Given the description of an element on the screen output the (x, y) to click on. 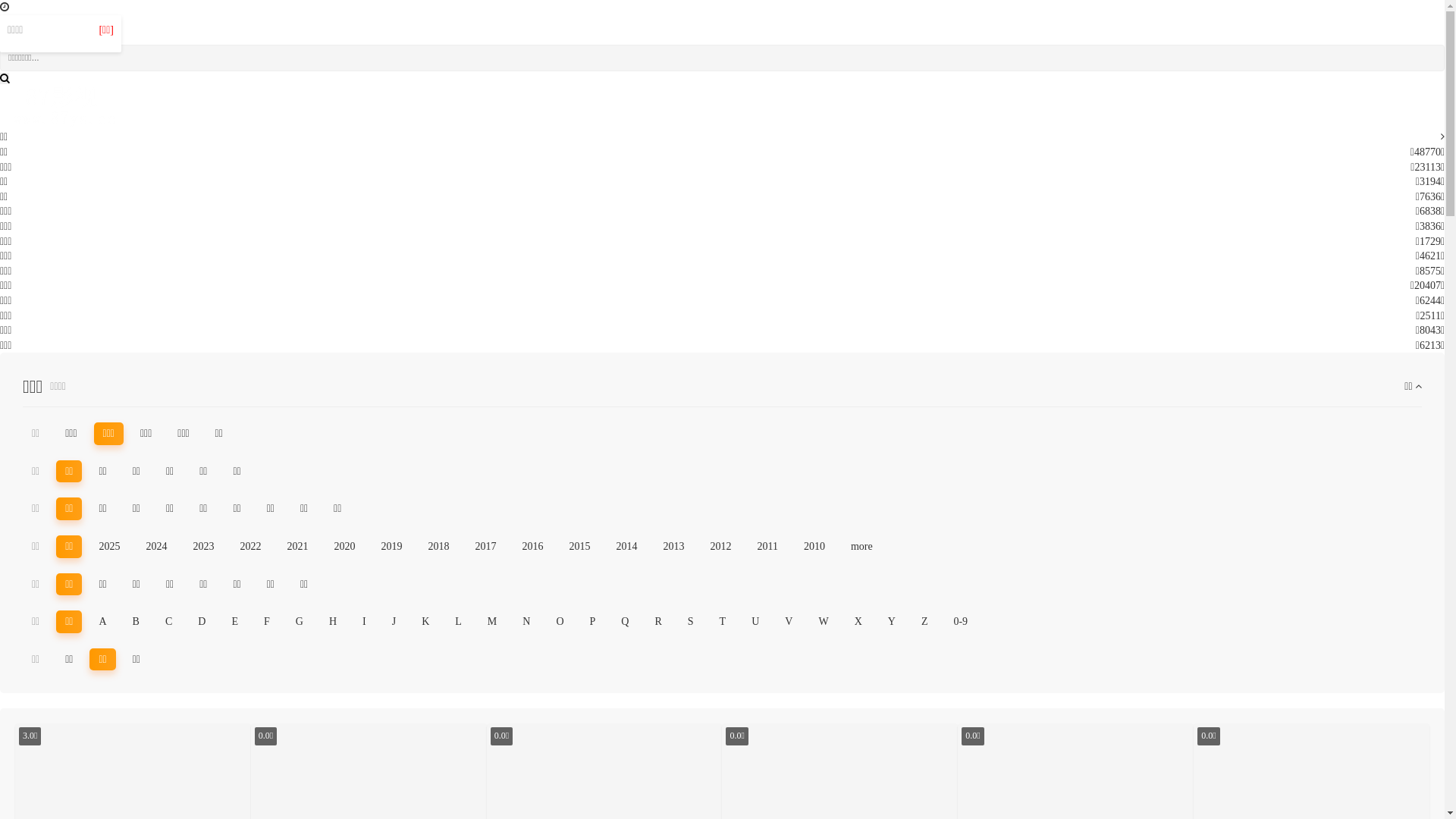
P Element type: text (592, 621)
E Element type: text (234, 621)
D Element type: text (201, 621)
U Element type: text (755, 621)
2022 Element type: text (249, 546)
X Element type: text (858, 621)
2014 Element type: text (626, 546)
T Element type: text (722, 621)
F Element type: text (266, 621)
2012 Element type: text (720, 546)
Q Element type: text (624, 621)
2010 Element type: text (814, 546)
2024 Element type: text (155, 546)
2023 Element type: text (202, 546)
M Element type: text (491, 621)
Y Element type: text (891, 621)
L Element type: text (457, 621)
2025 Element type: text (108, 546)
2019 Element type: text (391, 546)
2013 Element type: text (673, 546)
0-9 Element type: text (960, 621)
V Element type: text (788, 621)
2011 Element type: text (766, 546)
2020 Element type: text (344, 546)
G Element type: text (299, 621)
K Element type: text (425, 621)
2016 Element type: text (532, 546)
2021 Element type: text (296, 546)
W Element type: text (823, 621)
R Element type: text (657, 621)
Z Element type: text (924, 621)
A Element type: text (102, 621)
I Element type: text (364, 621)
more Element type: text (861, 546)
J Element type: text (393, 621)
2017 Element type: text (485, 546)
2018 Element type: text (438, 546)
S Element type: text (690, 621)
B Element type: text (135, 621)
H Element type: text (332, 621)
N Element type: text (526, 621)
O Element type: text (559, 621)
C Element type: text (168, 621)
2015 Element type: text (579, 546)
